Given the description of an element on the screen output the (x, y) to click on. 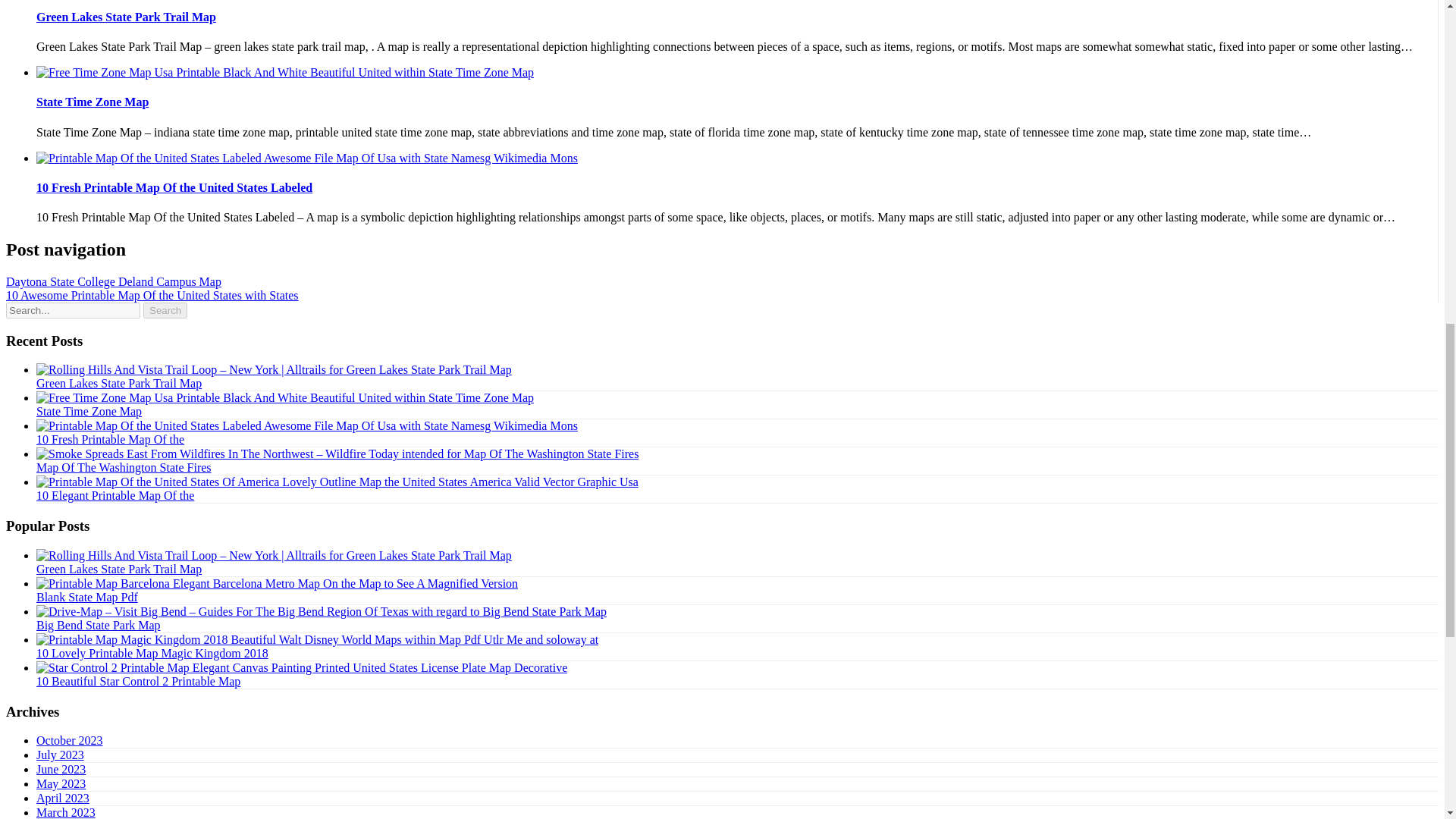
10 Fresh Printable Map Of the United States Labeled (174, 187)
Search (164, 310)
Search (164, 310)
State Time Zone Map (92, 101)
Daytona State College Deland Campus Map (113, 281)
10 Awesome Printable Map Of the United States with States (151, 295)
Green Lakes State Park Trail Map (125, 16)
Search (164, 310)
